Given the description of an element on the screen output the (x, y) to click on. 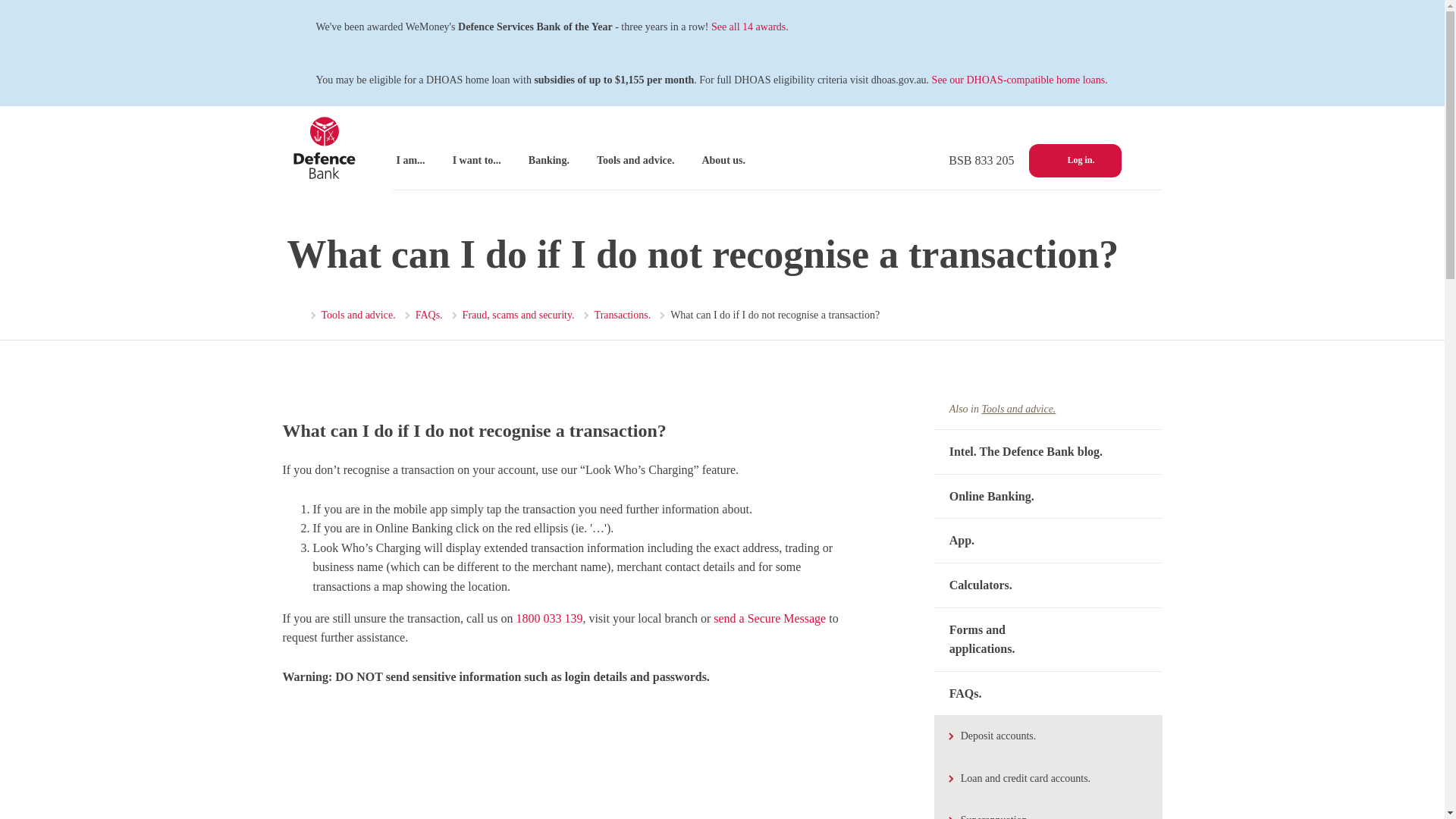
I want to... (483, 160)
1800 033 139 (548, 617)
Transactions. (617, 315)
Dismiss alert (1146, 26)
Tools and advice. (352, 315)
See our DHOAS-compatible home loans. (1019, 79)
Home (293, 316)
Banking. (555, 160)
Tools and advice. (641, 160)
send a Secure Message (769, 617)
About us. (729, 160)
Dismiss alert (1146, 79)
I am... (416, 160)
See all 14 awards. (750, 26)
Fraud, scams and security. (513, 315)
